Given the description of an element on the screen output the (x, y) to click on. 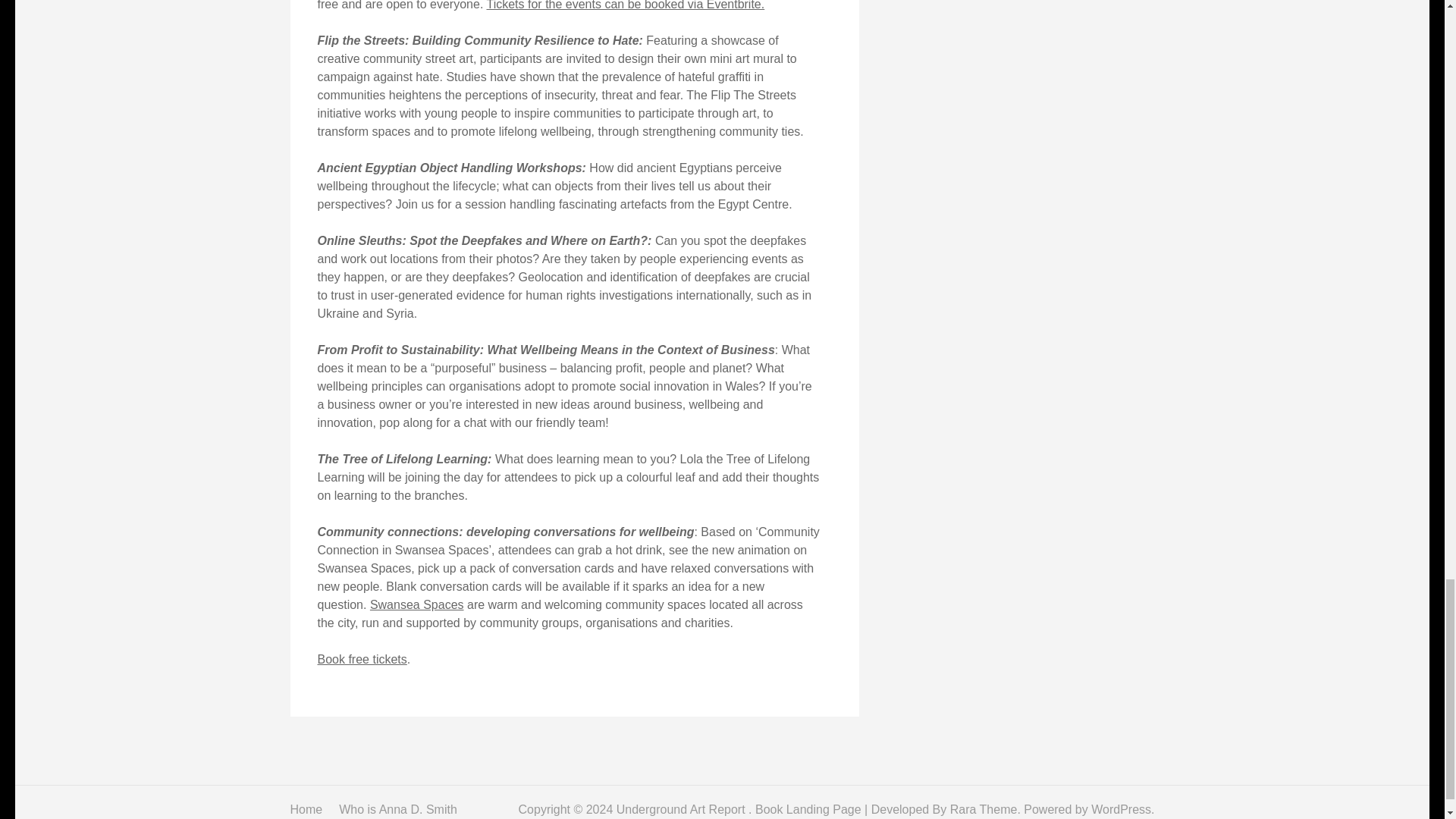
Swansea Spaces (416, 604)
Underground Art Report (681, 809)
Rara Theme (983, 809)
Home (305, 809)
Book free tickets (361, 658)
Who is Anna D. Smith (398, 809)
WordPress (1120, 809)
Tickets for the events can be booked via Eventbrite. (625, 5)
